Given the description of an element on the screen output the (x, y) to click on. 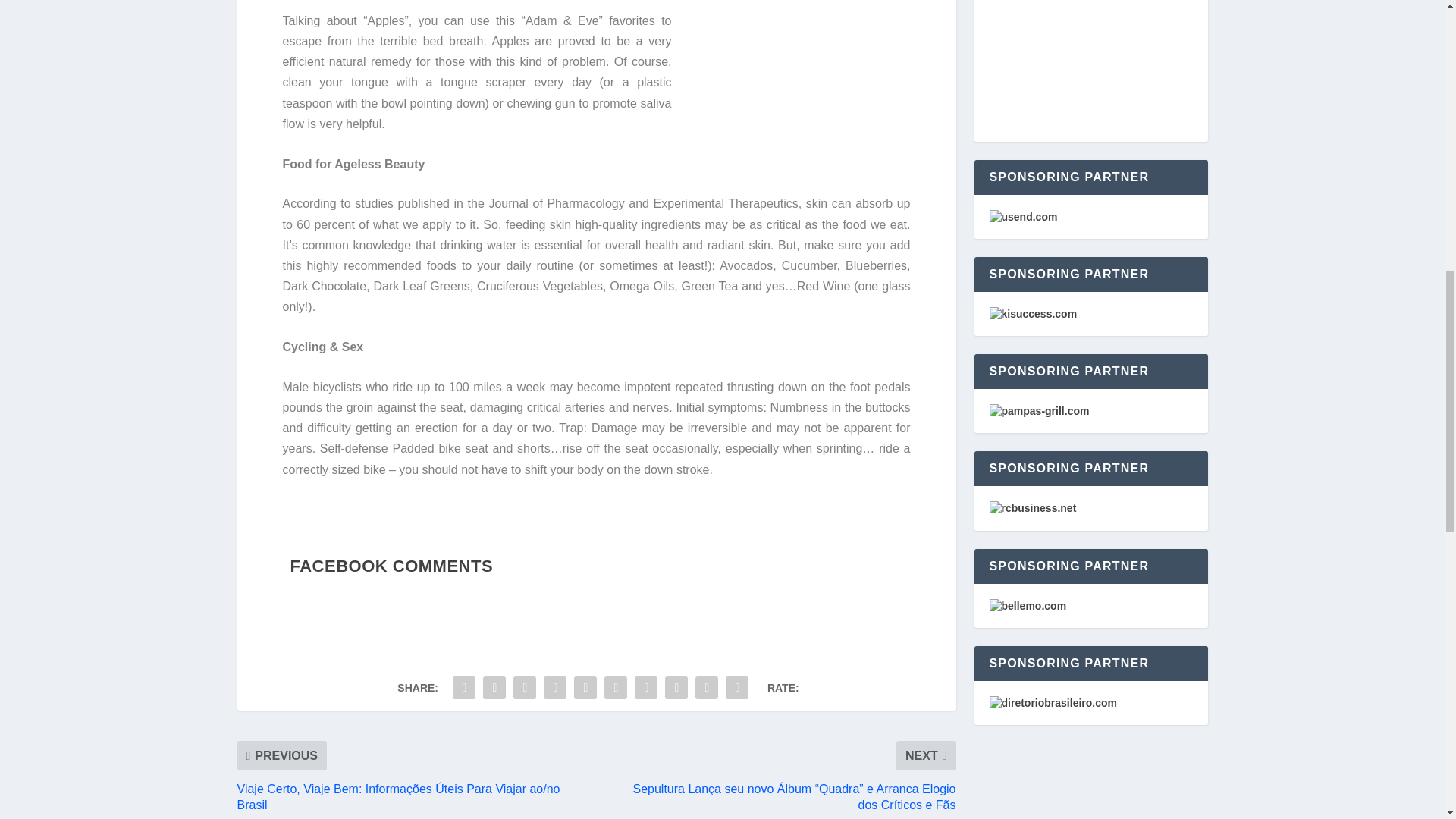
Share "5 Tips to Boost Health and Fitness" via Pinterest (584, 687)
Share "5 Tips to Boost Health and Fitness" via Tumblr (555, 687)
5 Tips to Boost Health and Fitness 2 (796, 57)
Share "5 Tips to Boost Health and Fitness" via Buffer (645, 687)
Share "5 Tips to Boost Health and Fitness" via Facebook (463, 687)
Share "5 Tips to Boost Health and Fitness" via LinkedIn (614, 687)
Share "5 Tips to Boost Health and Fitness" via Twitter (494, 687)
Share "5 Tips to Boost Health and Fitness" via Stumbleupon (676, 687)
Share "5 Tips to Boost Health and Fitness" via Email (706, 687)
